Given the description of an element on the screen output the (x, y) to click on. 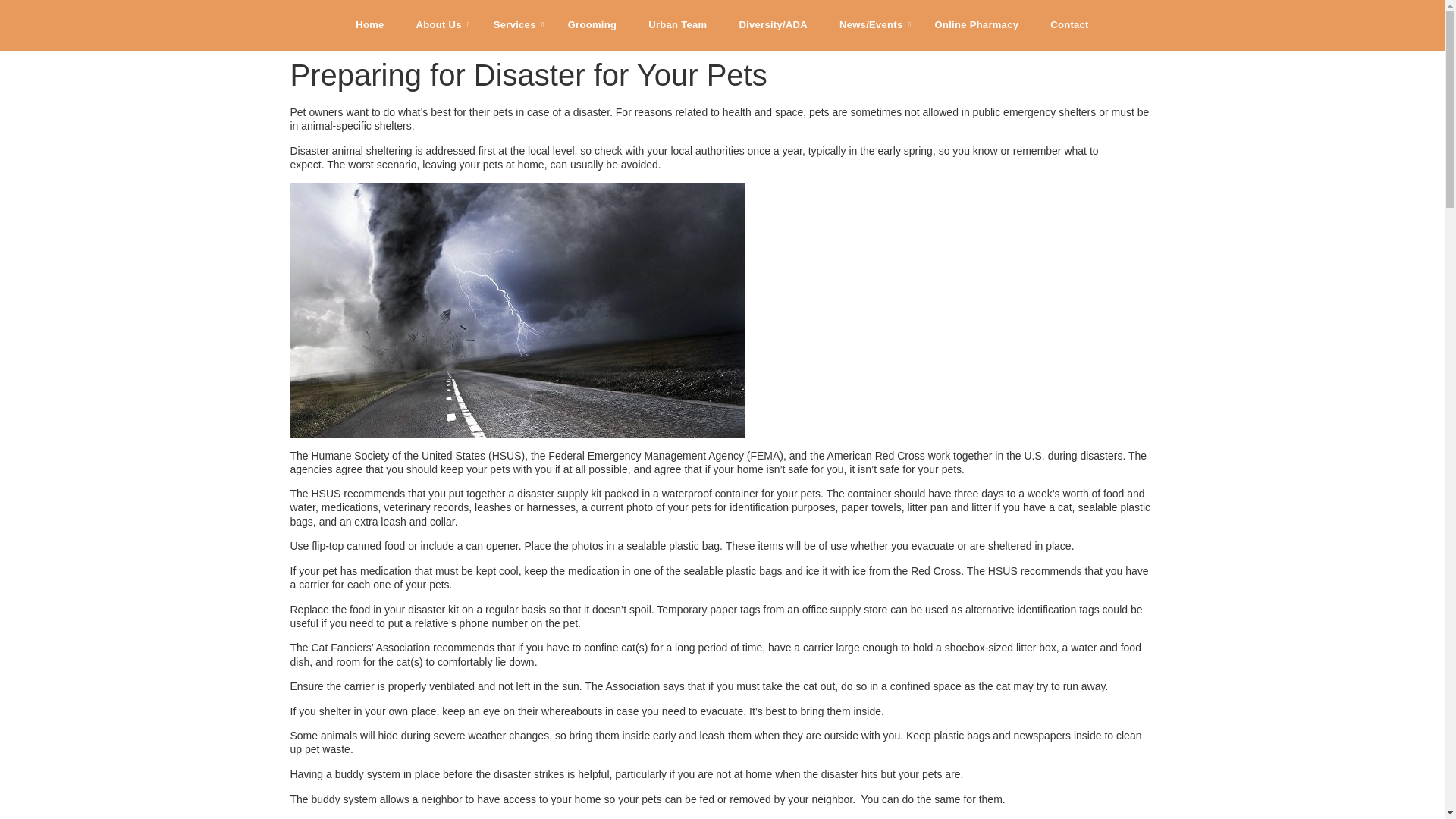
Services (514, 25)
About Us (438, 25)
Urban Team (676, 25)
Online Pharmacy (976, 25)
Grooming (592, 25)
Contact (1069, 25)
Home (368, 25)
